Given the description of an element on the screen output the (x, y) to click on. 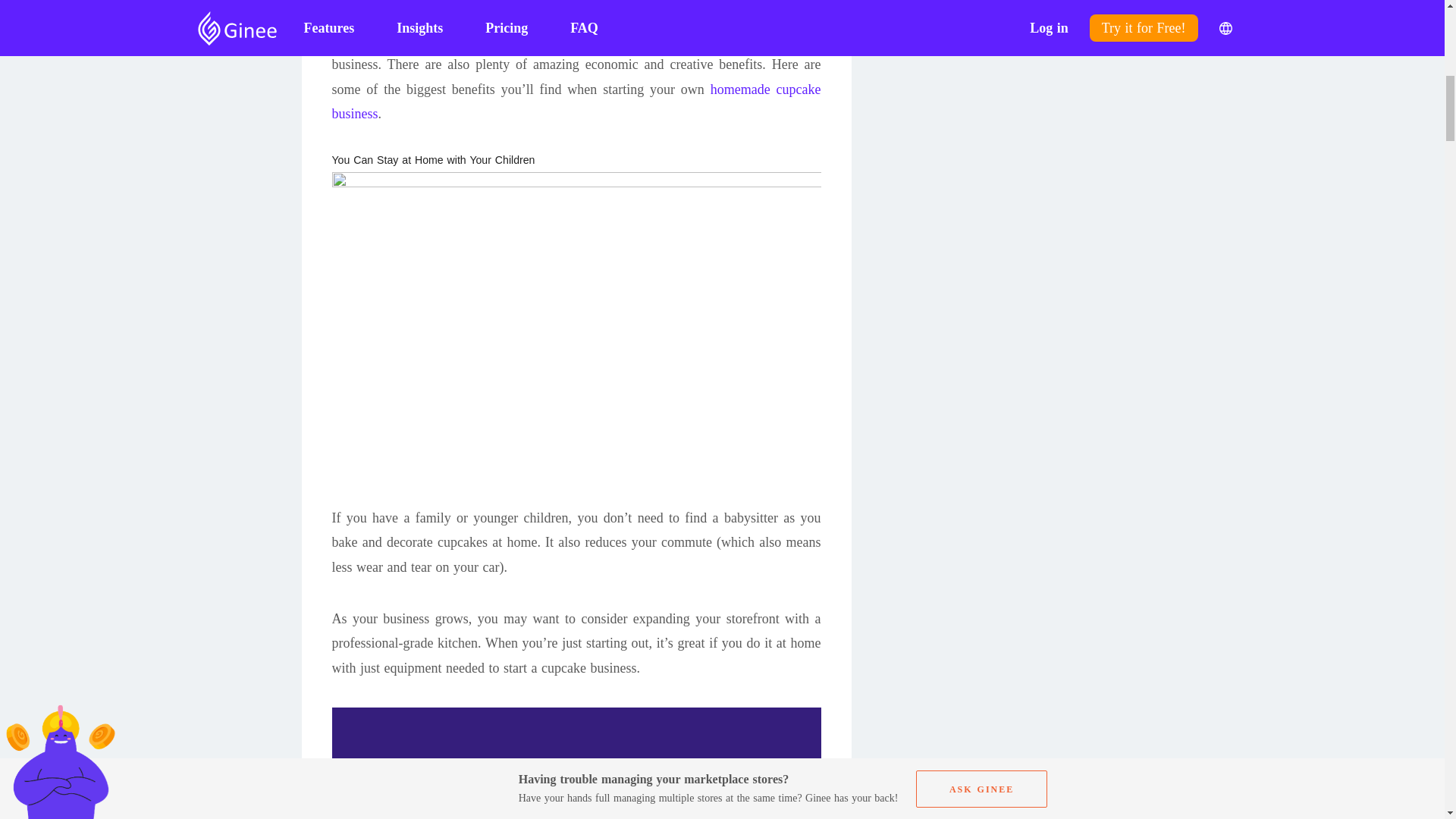
homemade cupcake business (576, 101)
